Given the description of an element on the screen output the (x, y) to click on. 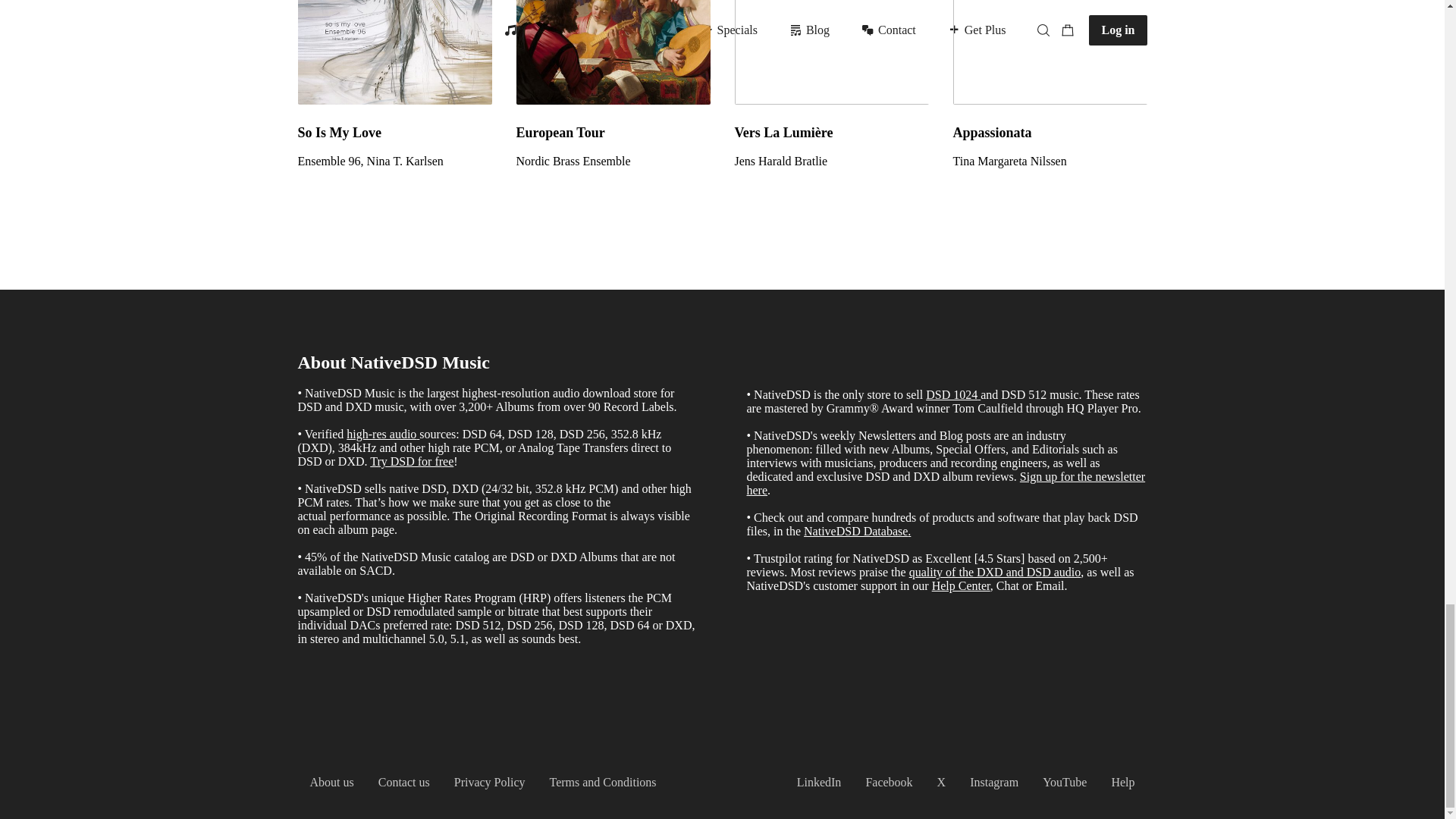
So Is My Love (394, 132)
Appassionata (1049, 161)
European Tour (612, 132)
European Tour (612, 161)
Appassionata (1049, 132)
So Is My Love (394, 52)
Appassionata (1049, 52)
European Tour (612, 52)
So Is My Love (394, 161)
